Given the description of an element on the screen output the (x, y) to click on. 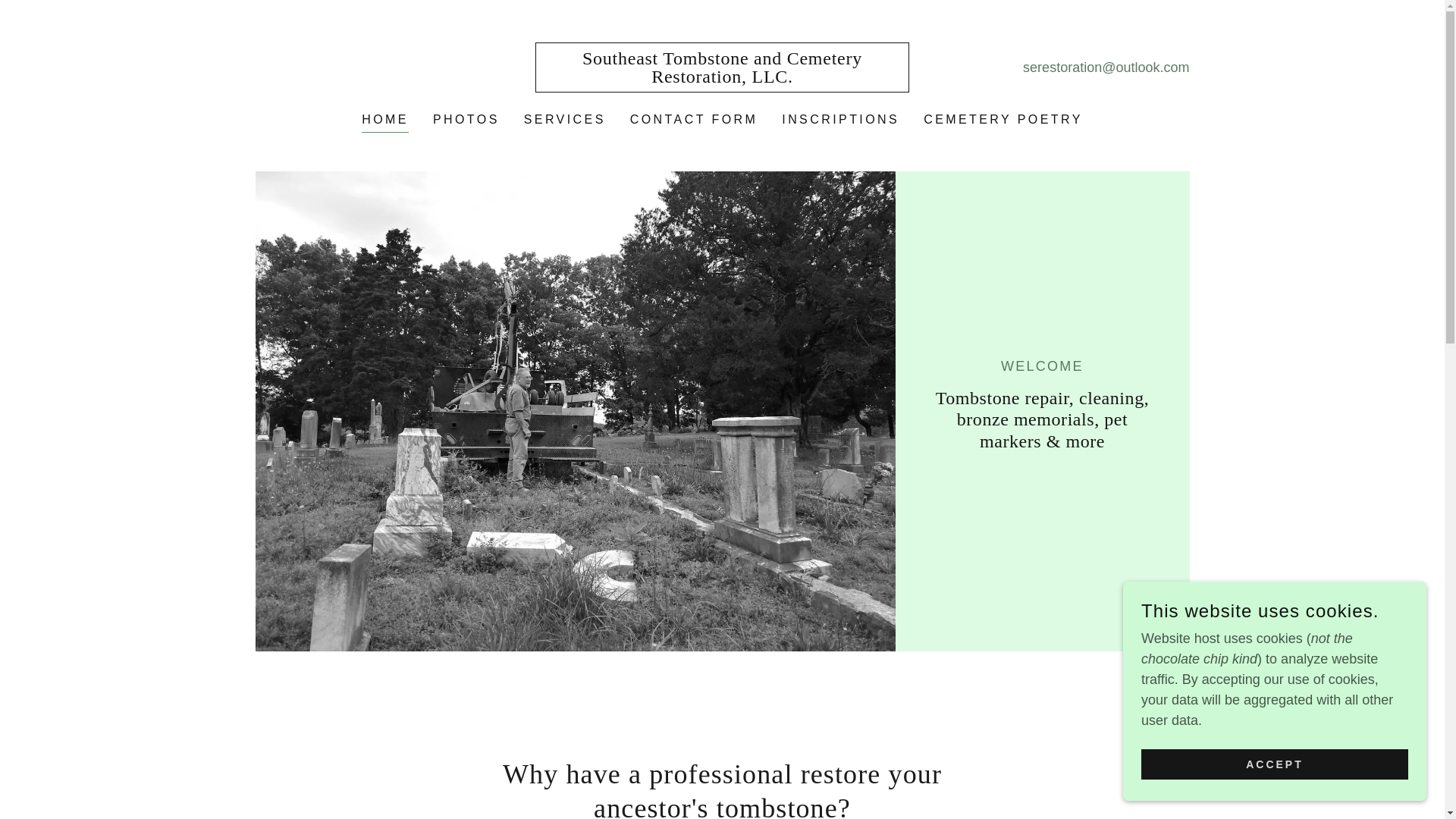
SERVICES (564, 119)
CONTACT FORM (694, 119)
PHOTOS (465, 119)
Southeast Tombstone and Cemetery Restoration, LLC. (721, 77)
Southeast Tombstone and Cemetery Restoration, LLC. (721, 77)
HOME (385, 121)
ACCEPT (1274, 764)
CEMETERY POETRY (1002, 119)
INSCRIPTIONS (840, 119)
